Given the description of an element on the screen output the (x, y) to click on. 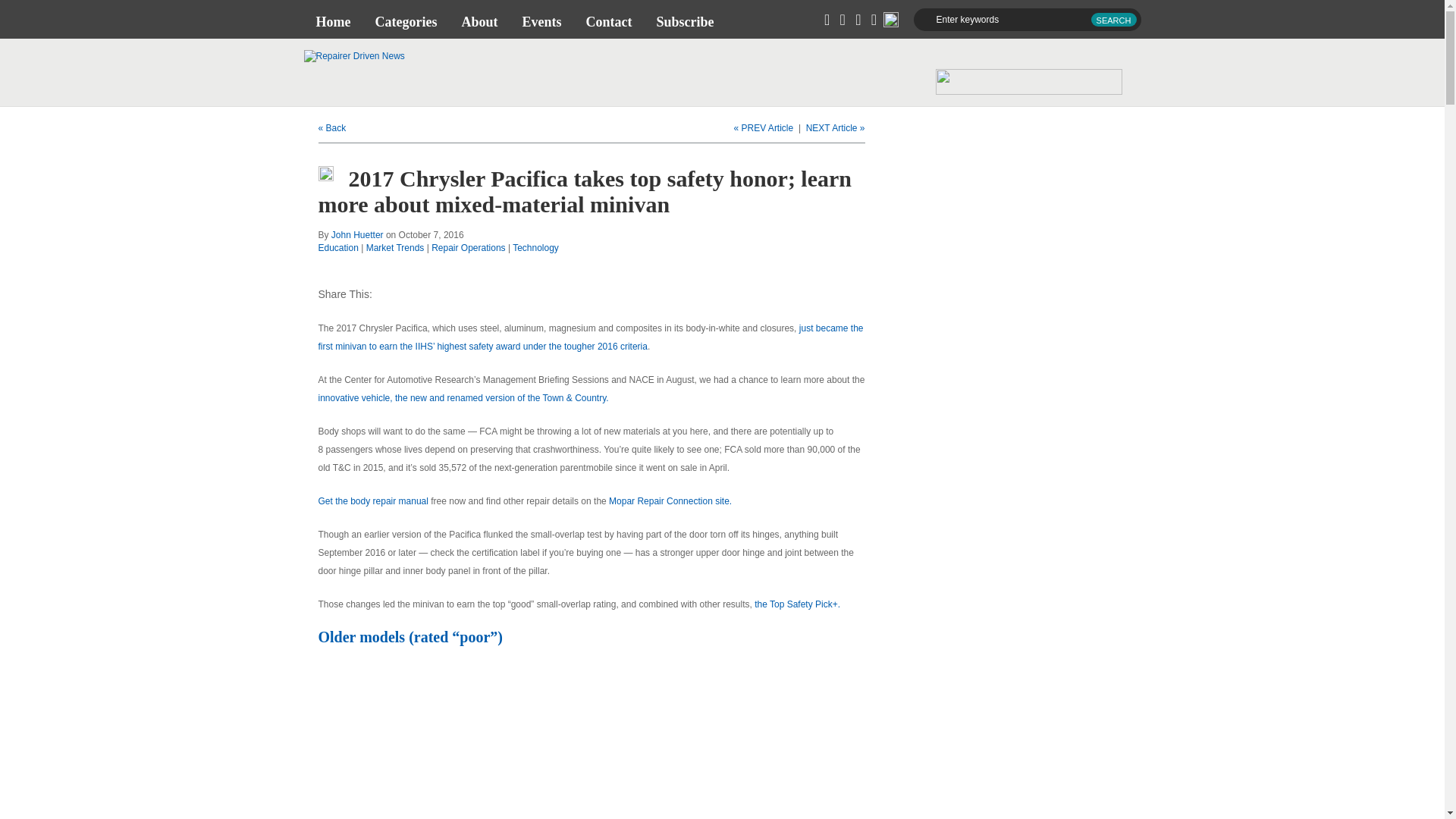
Search (1112, 19)
Events (541, 21)
Enter keywords (1026, 19)
Categories (405, 21)
Contact (608, 21)
About (478, 21)
Search (1112, 19)
Search (1112, 19)
Home (332, 21)
Subscribe (684, 21)
